Given the description of an element on the screen output the (x, y) to click on. 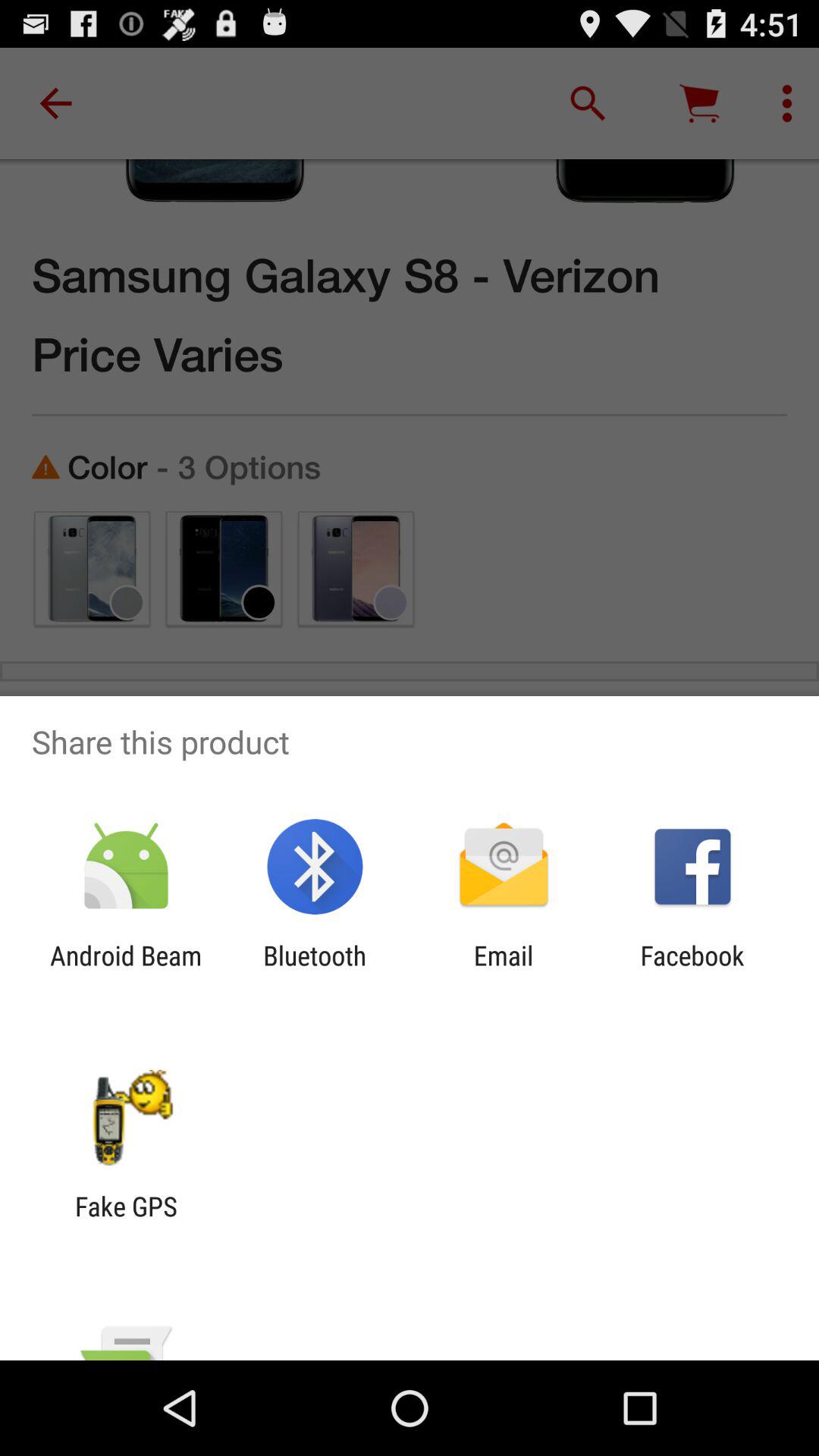
press app to the right of bluetooth app (503, 971)
